Given the description of an element on the screen output the (x, y) to click on. 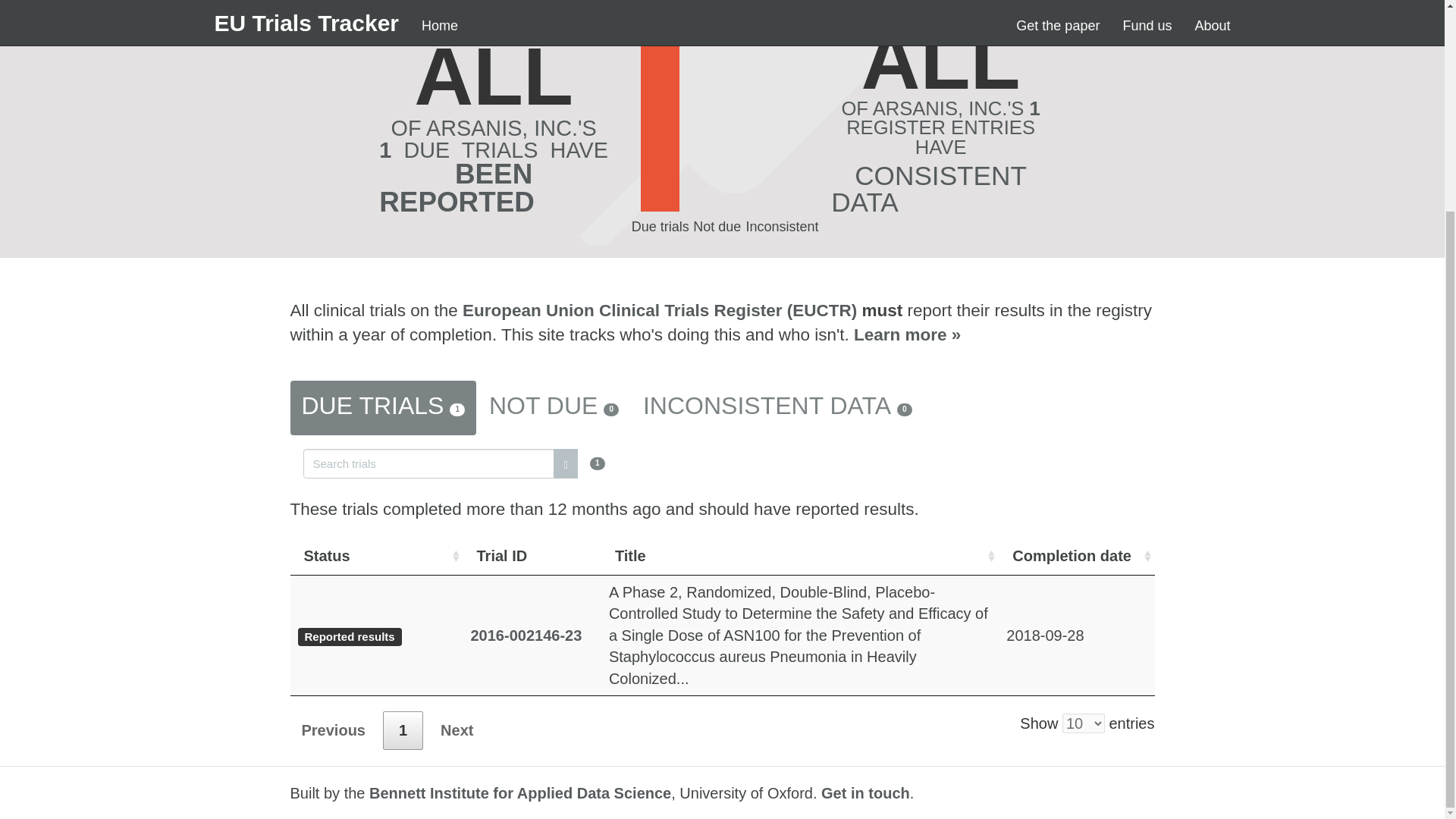
Next (457, 730)
Get in touch (865, 792)
Bennett Institute for Applied Data Science (520, 792)
NOT DUE0 (553, 407)
DUE TRIALS1 (382, 407)
1 (453, 461)
INCONSISTENT DATA0 (777, 407)
1 (402, 730)
2016-002146-23 (525, 635)
Previous (332, 730)
